Given the description of an element on the screen output the (x, y) to click on. 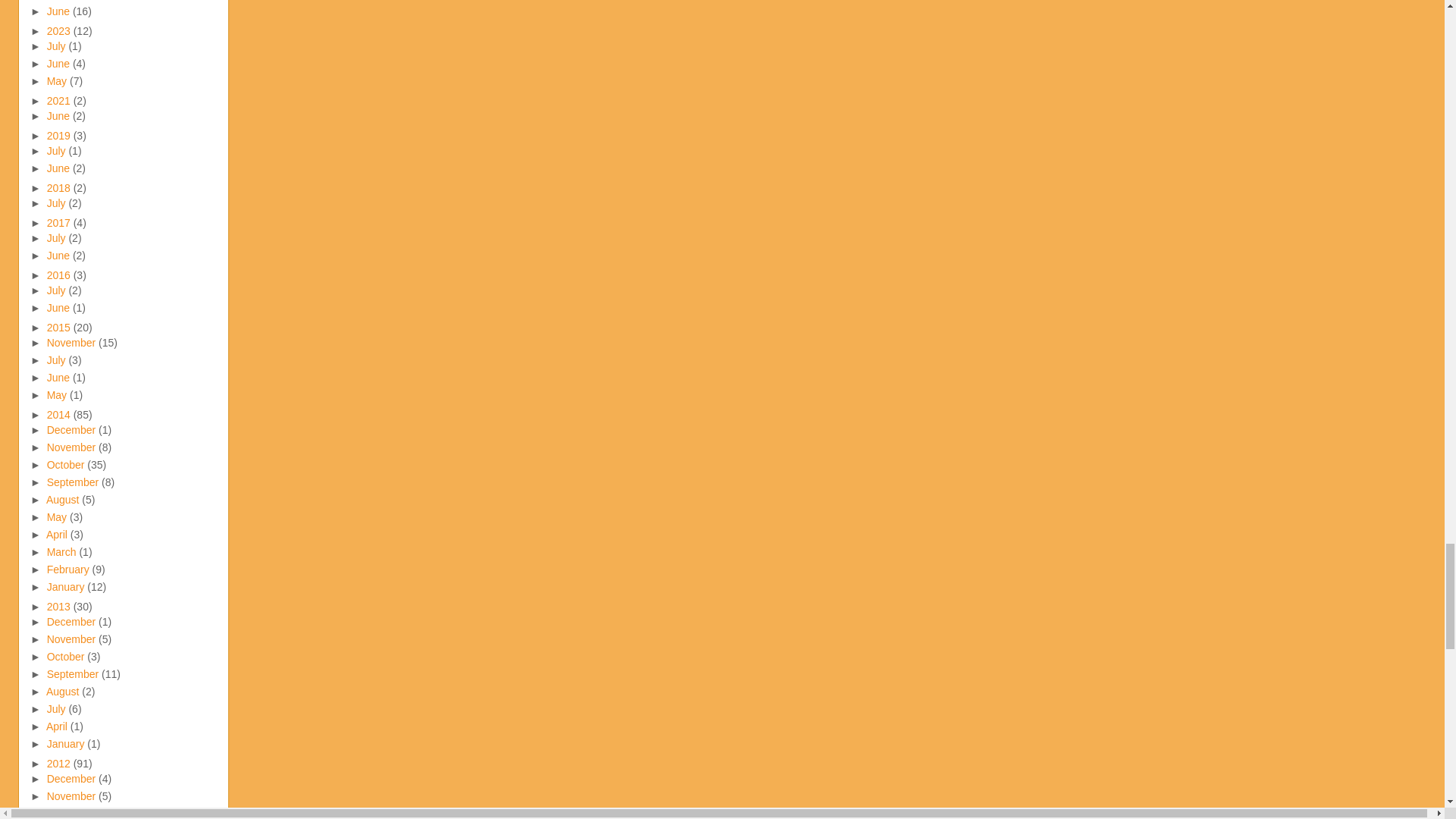
June (59, 10)
2023 (60, 30)
